Given the description of an element on the screen output the (x, y) to click on. 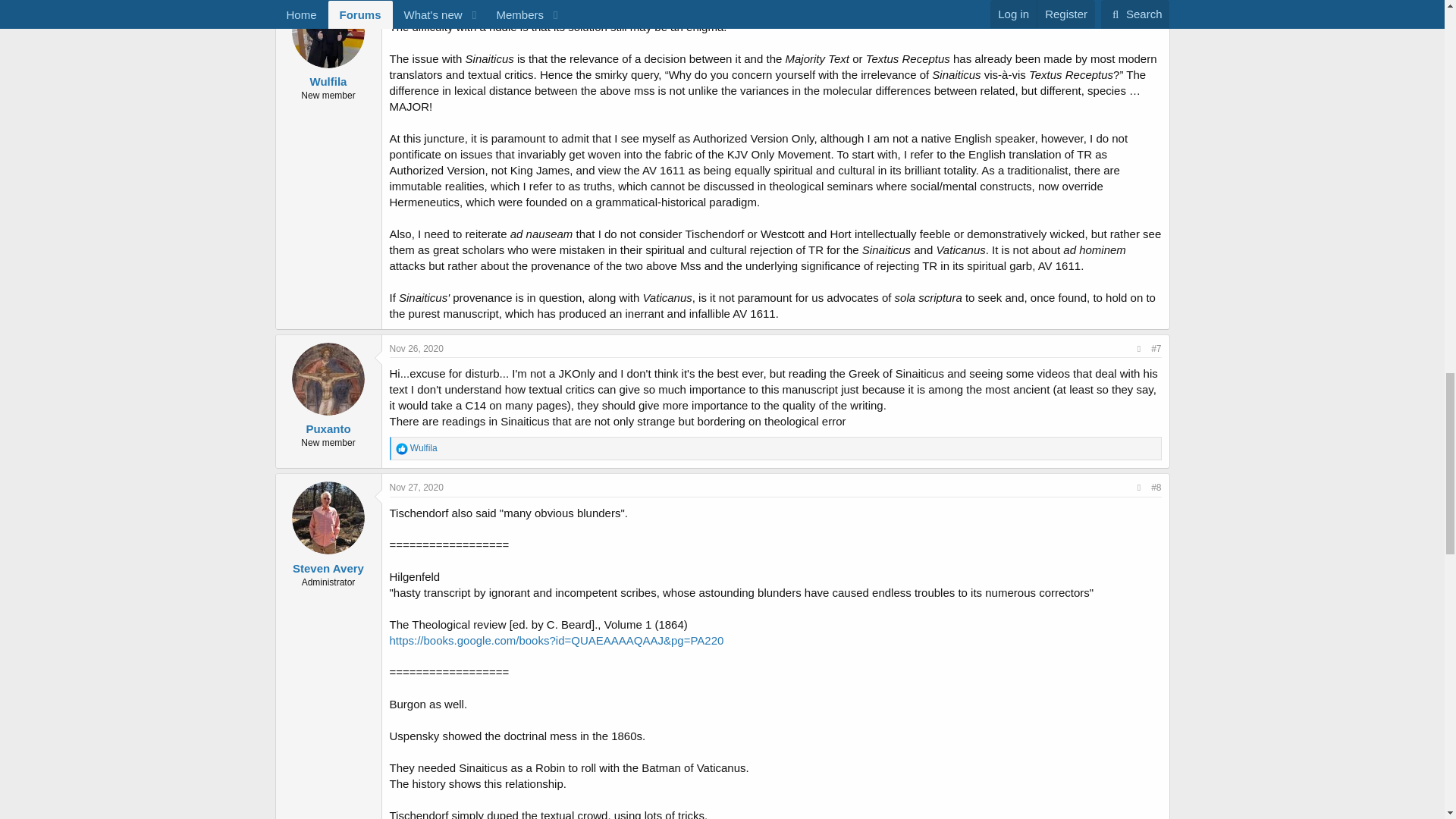
Nov 27, 2020 at 1:05 AM (417, 487)
Like (401, 449)
Nov 25, 2020 at 5:17 AM (417, 3)
Nov 26, 2020 at 12:18 PM (417, 348)
